Given the description of an element on the screen output the (x, y) to click on. 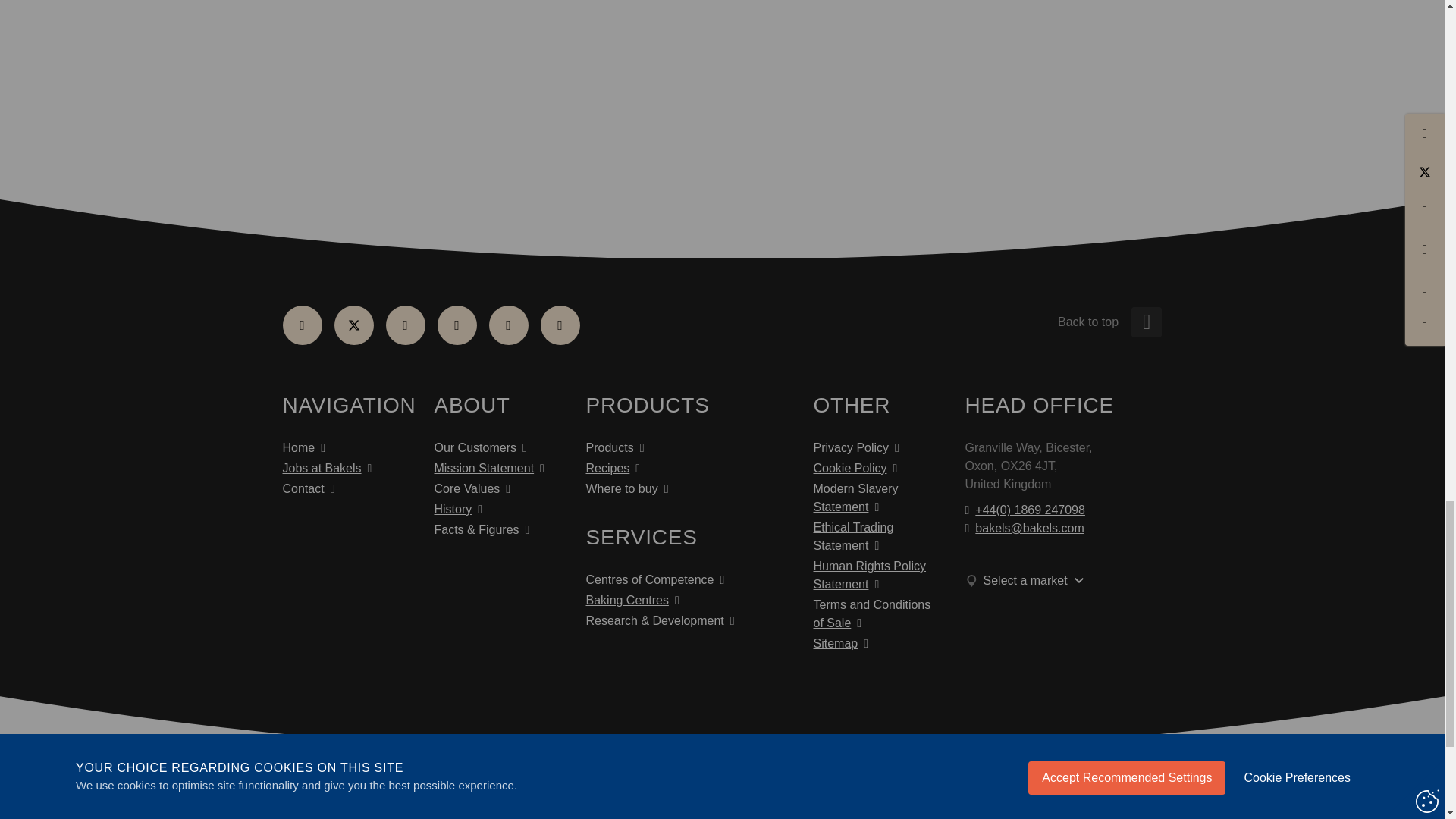
Back to top (1088, 321)
Back to top Back to top (1024, 322)
Back to top (1146, 322)
